Given the description of an element on the screen output the (x, y) to click on. 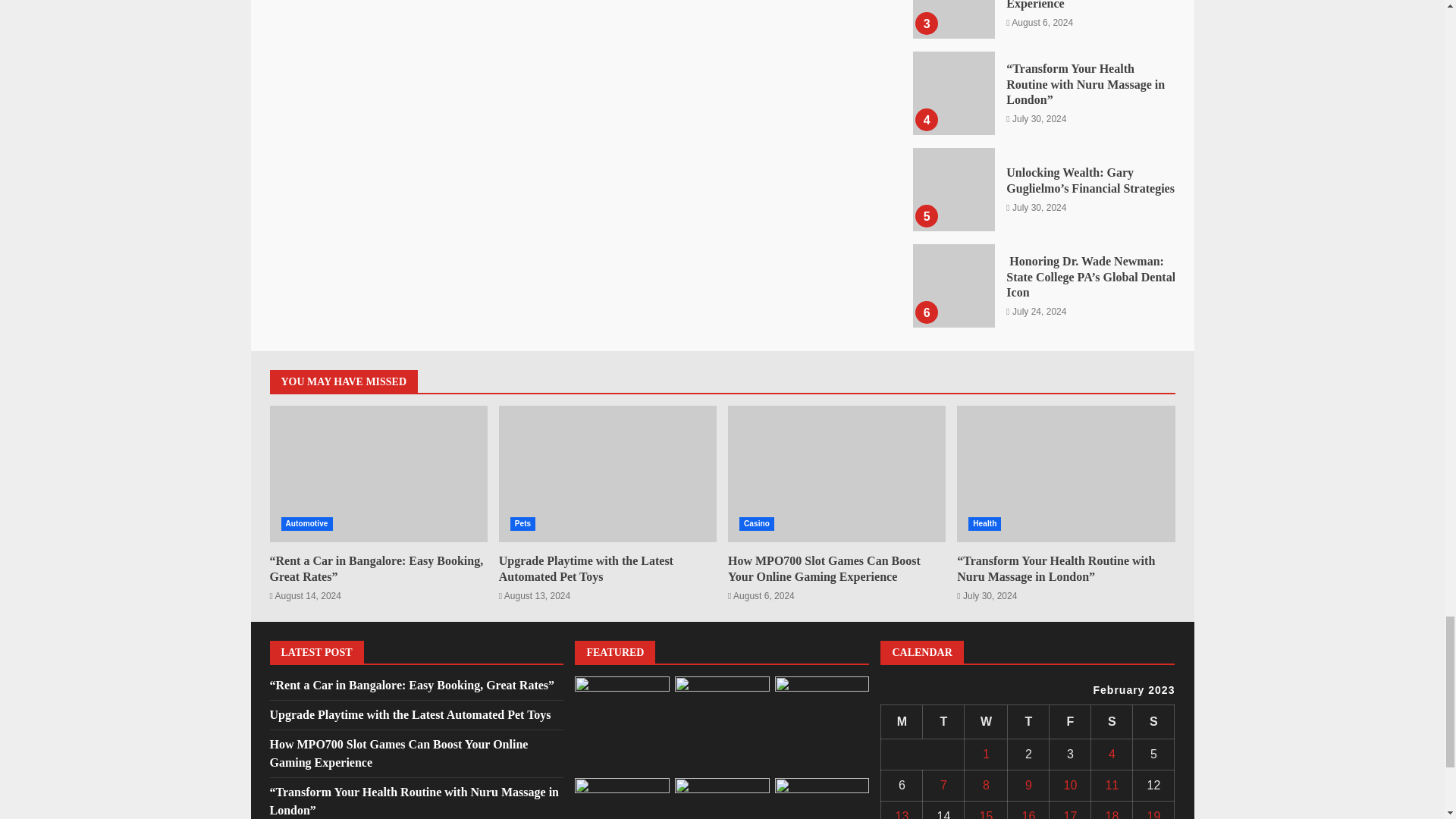
Friday (1069, 721)
Tuesday (943, 721)
Monday (901, 721)
Sunday (1153, 721)
Thursday (1028, 721)
Saturday (1111, 721)
Wednesday (985, 721)
